Given the description of an element on the screen output the (x, y) to click on. 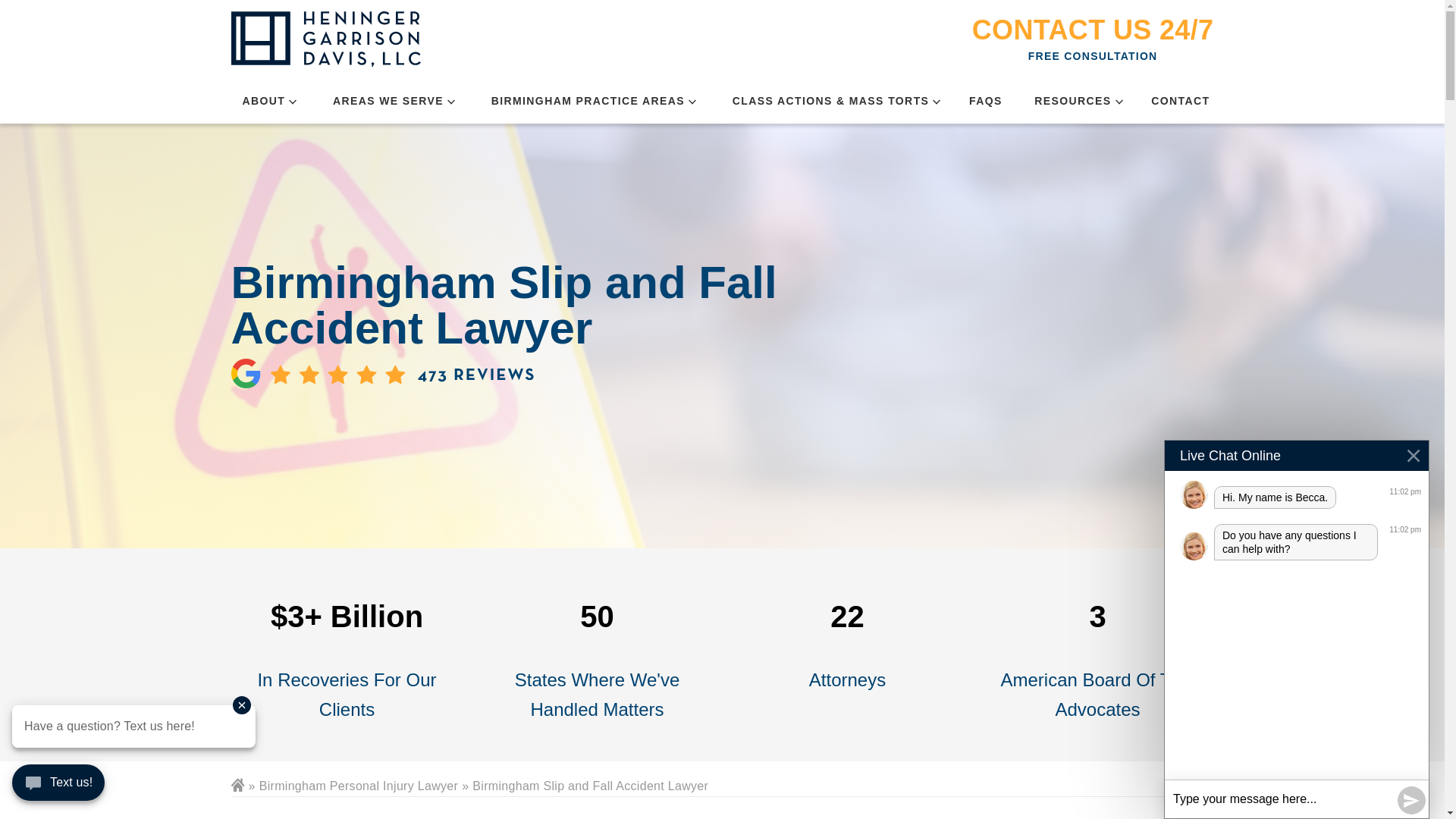
AREAS WE SERVE (388, 100)
Heninger Garrison Davis (325, 39)
Call to Heninger Garrison Davis (1093, 30)
ABOUT (264, 100)
BIRMINGHAM PRACTICE AREAS (588, 100)
